Given the description of an element on the screen output the (x, y) to click on. 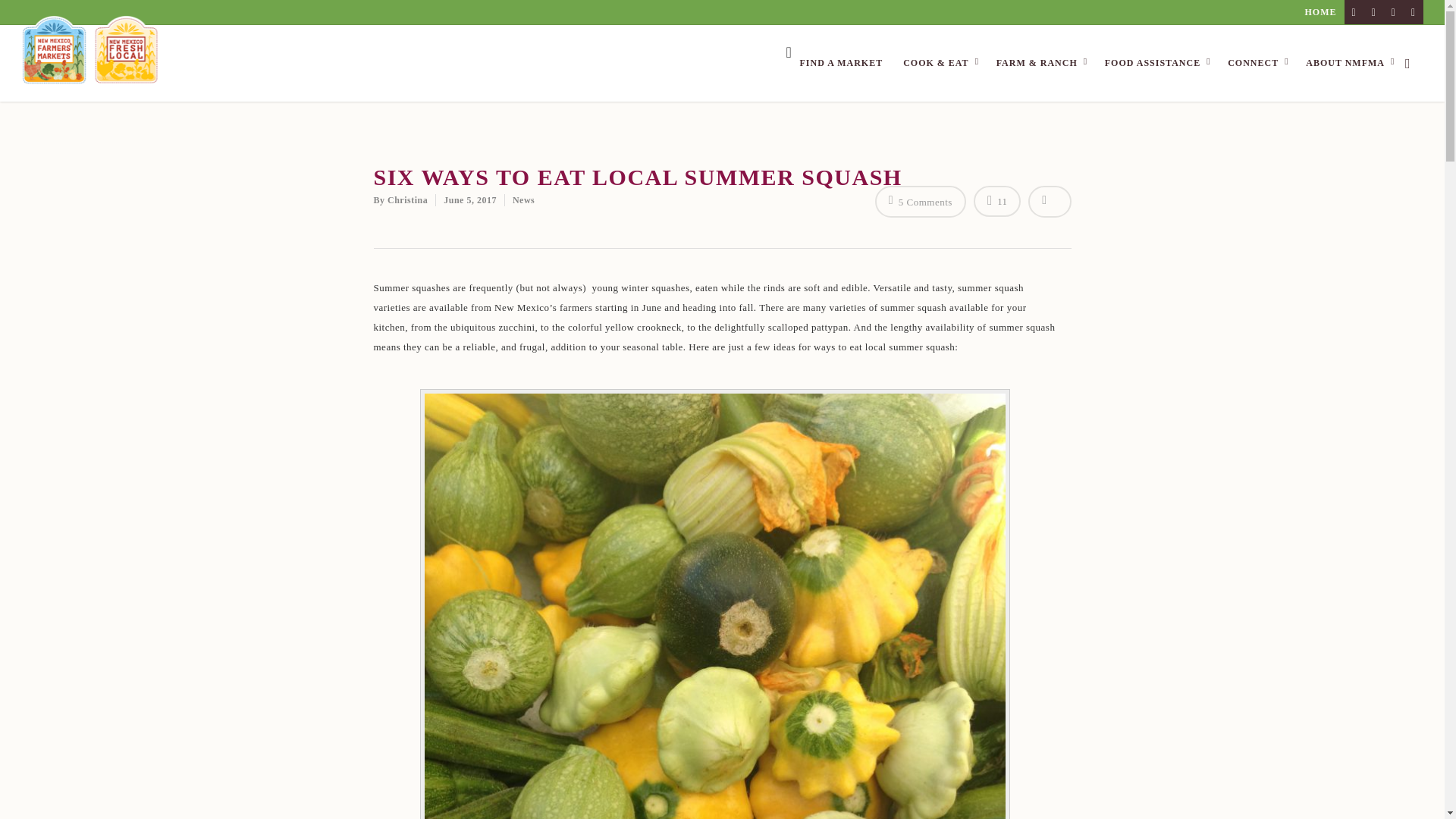
Love this (997, 200)
Posts by Christina (407, 199)
FOOD ASSISTANCE (1159, 63)
HOME (1320, 12)
CONNECT (1259, 63)
